Given the description of an element on the screen output the (x, y) to click on. 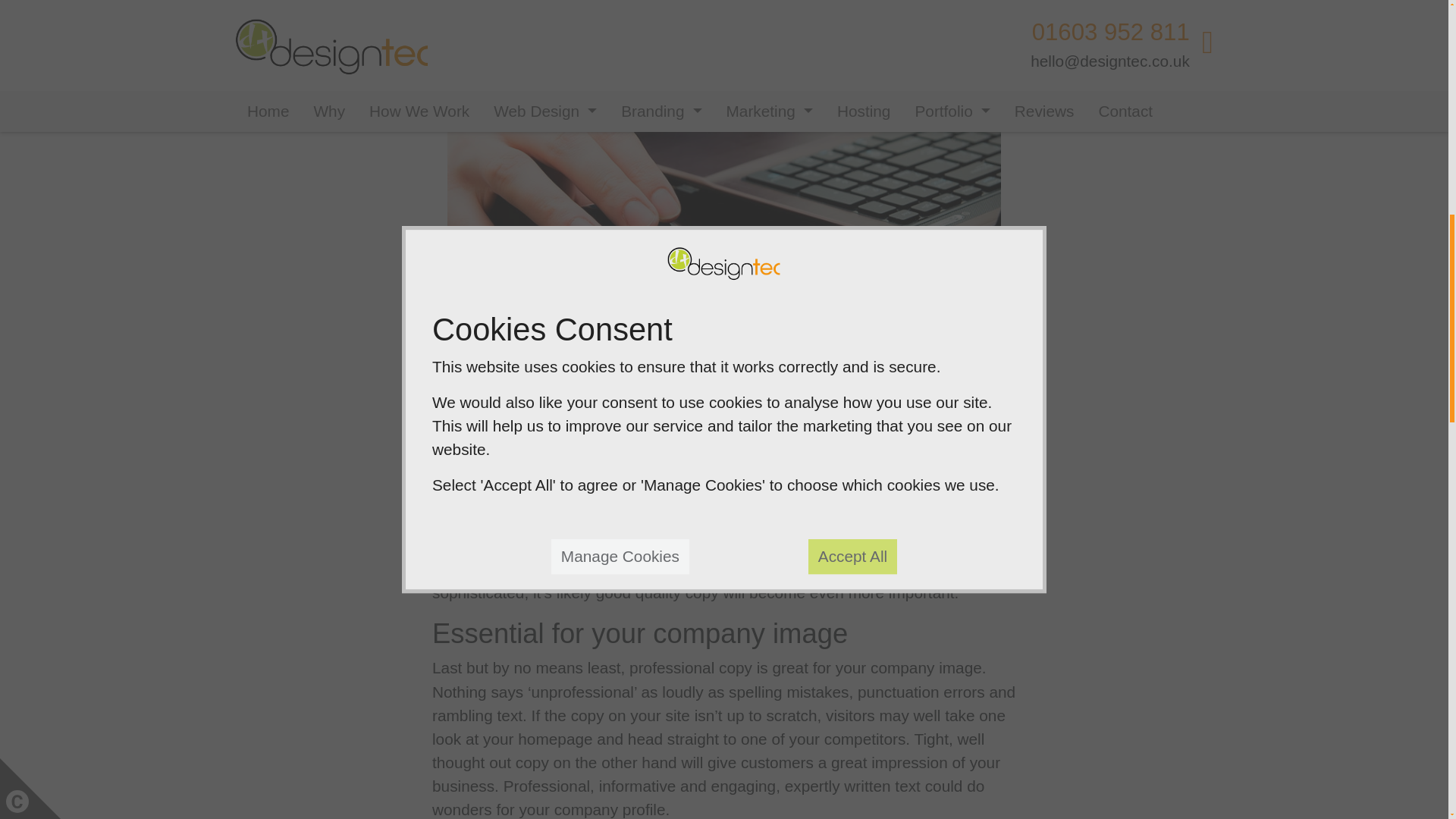
professional website copy (723, 475)
